Given the description of an element on the screen output the (x, y) to click on. 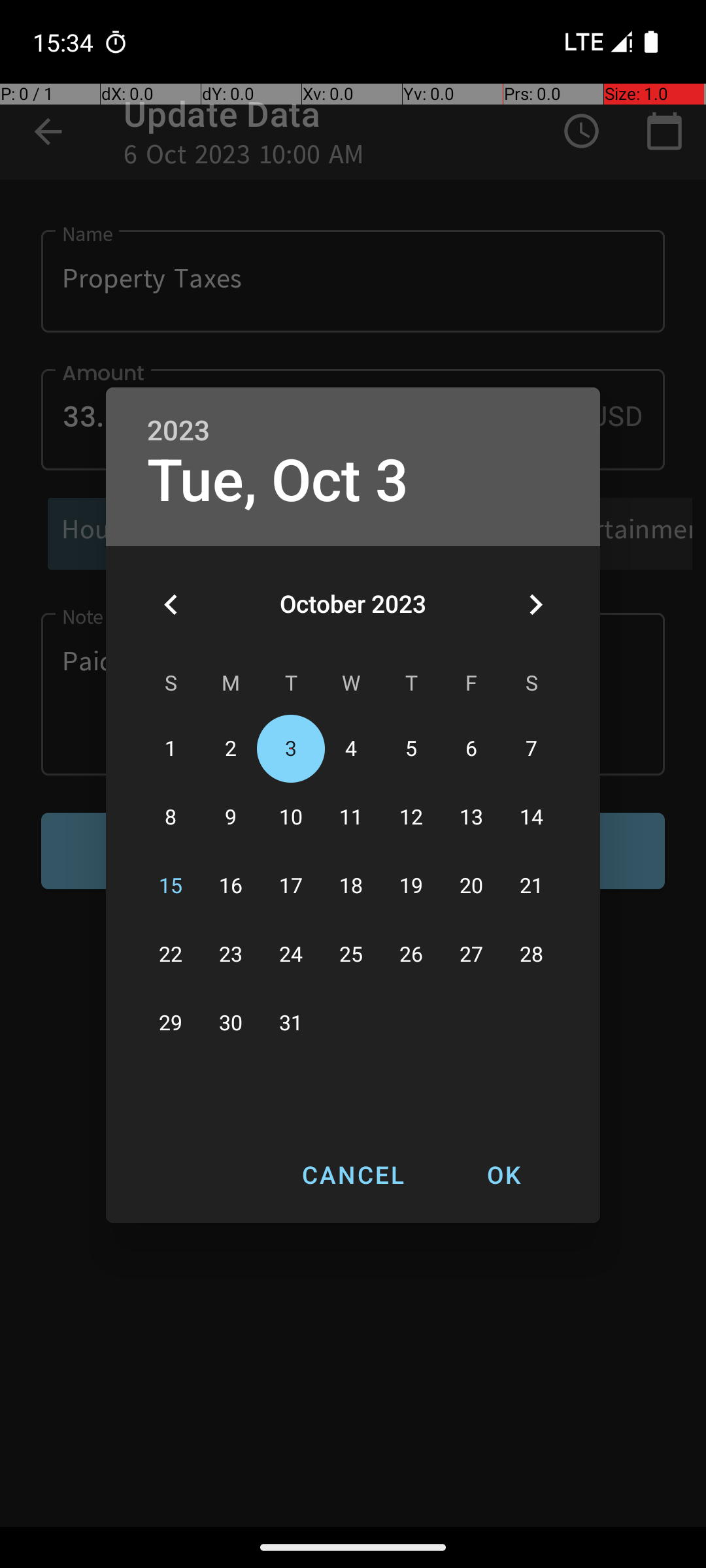
Tue, Oct 3 Element type: android.widget.TextView (278, 480)
